Given the description of an element on the screen output the (x, y) to click on. 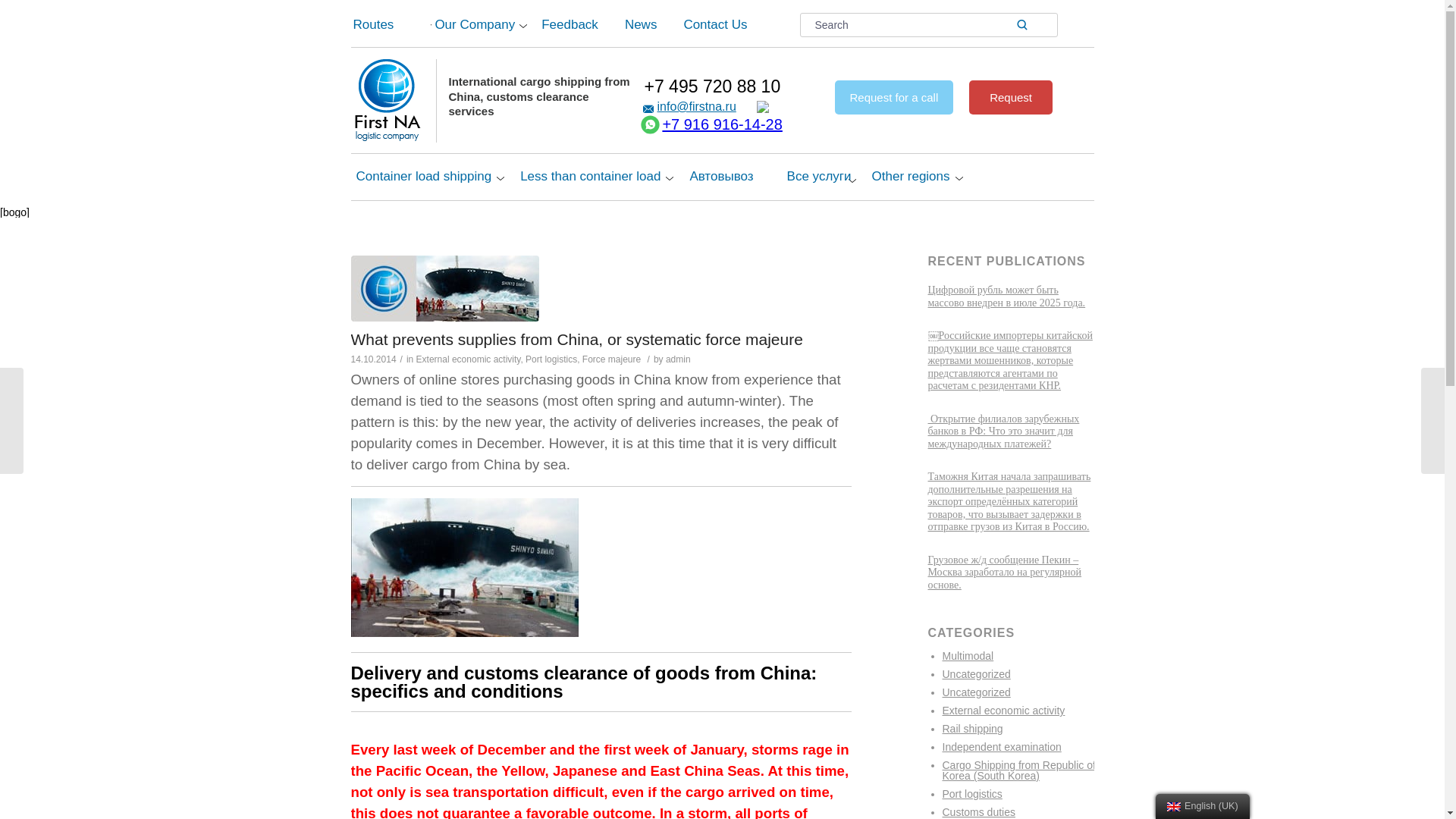
News (651, 21)
Posts by admin (677, 358)
Request for a call (893, 97)
Our Company (484, 21)
Contact Us (740, 21)
Routes (390, 21)
Feedback (579, 21)
